Given the description of an element on the screen output the (x, y) to click on. 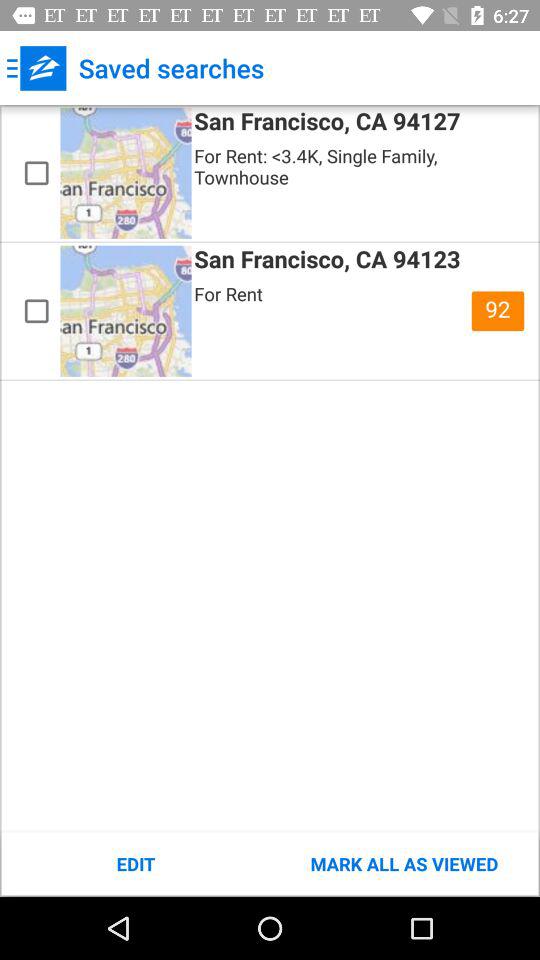
turn off item at the top right corner (497, 311)
